Given the description of an element on the screen output the (x, y) to click on. 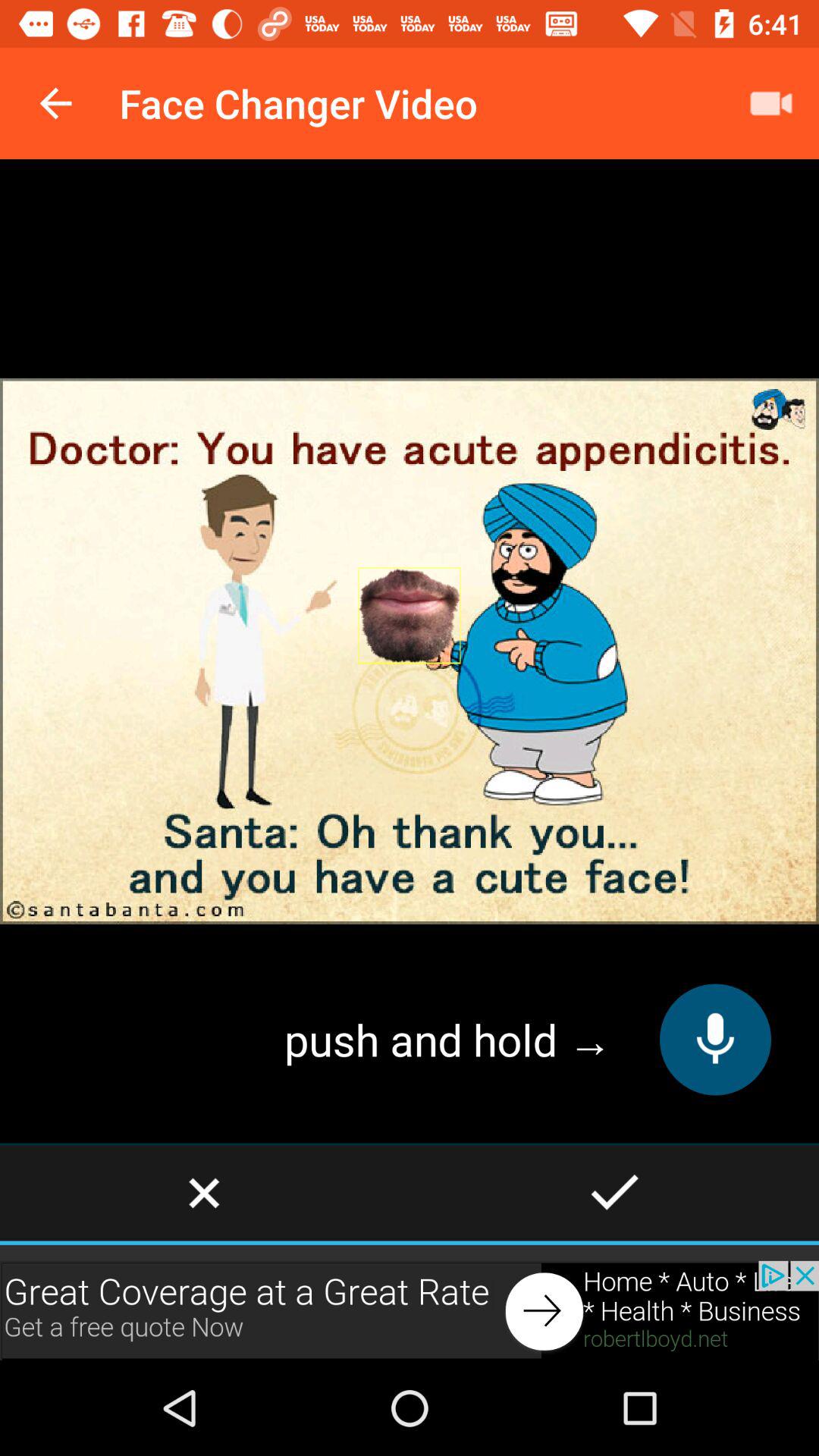
open advertisement (409, 1310)
